Given the description of an element on the screen output the (x, y) to click on. 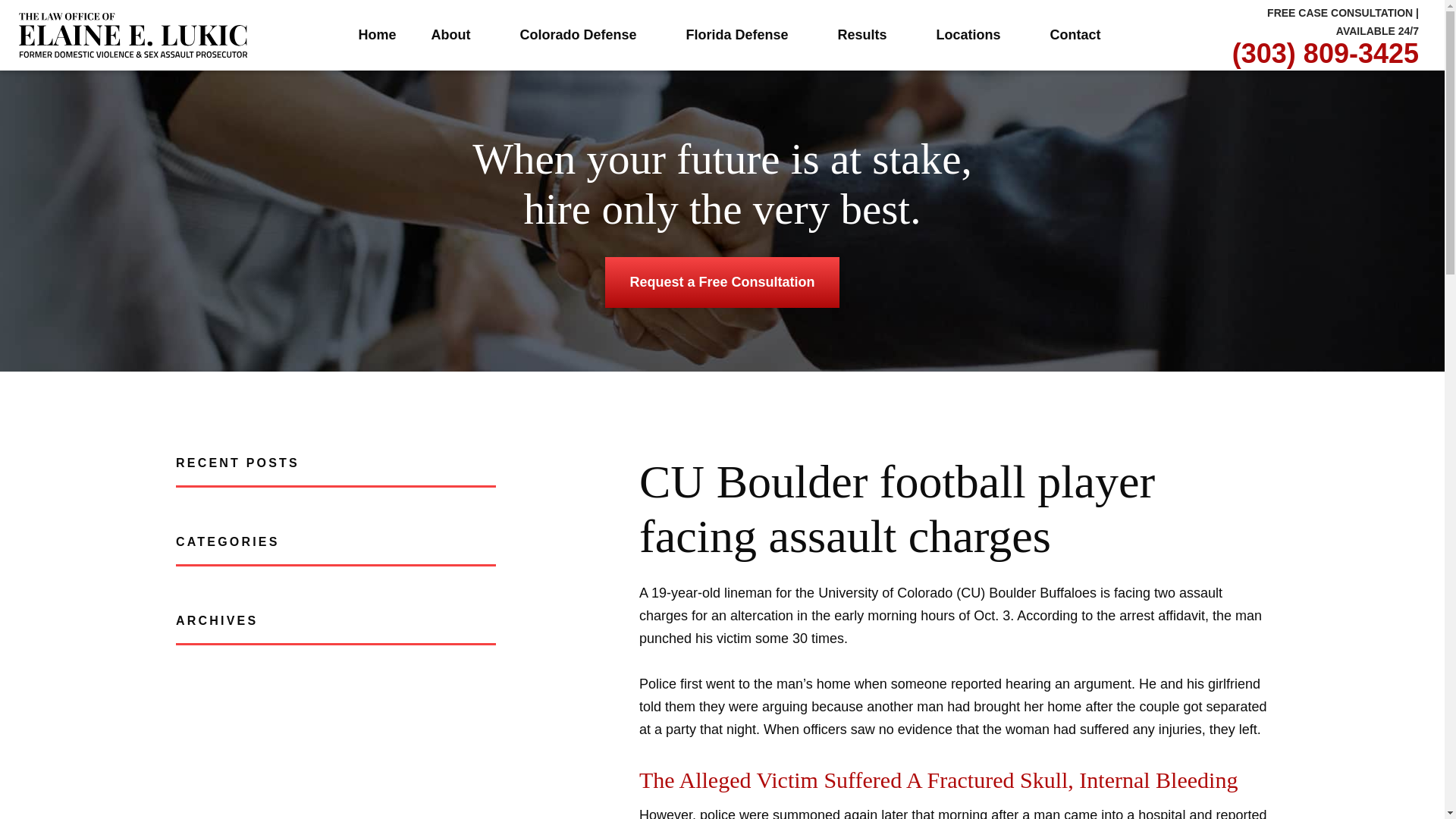
Request a Free Consultation (722, 282)
About (457, 35)
Contact (1074, 35)
Florida Defense (743, 35)
Locations (975, 35)
Colorado Defense (584, 35)
Results (869, 35)
Home (377, 35)
